Given the description of an element on the screen output the (x, y) to click on. 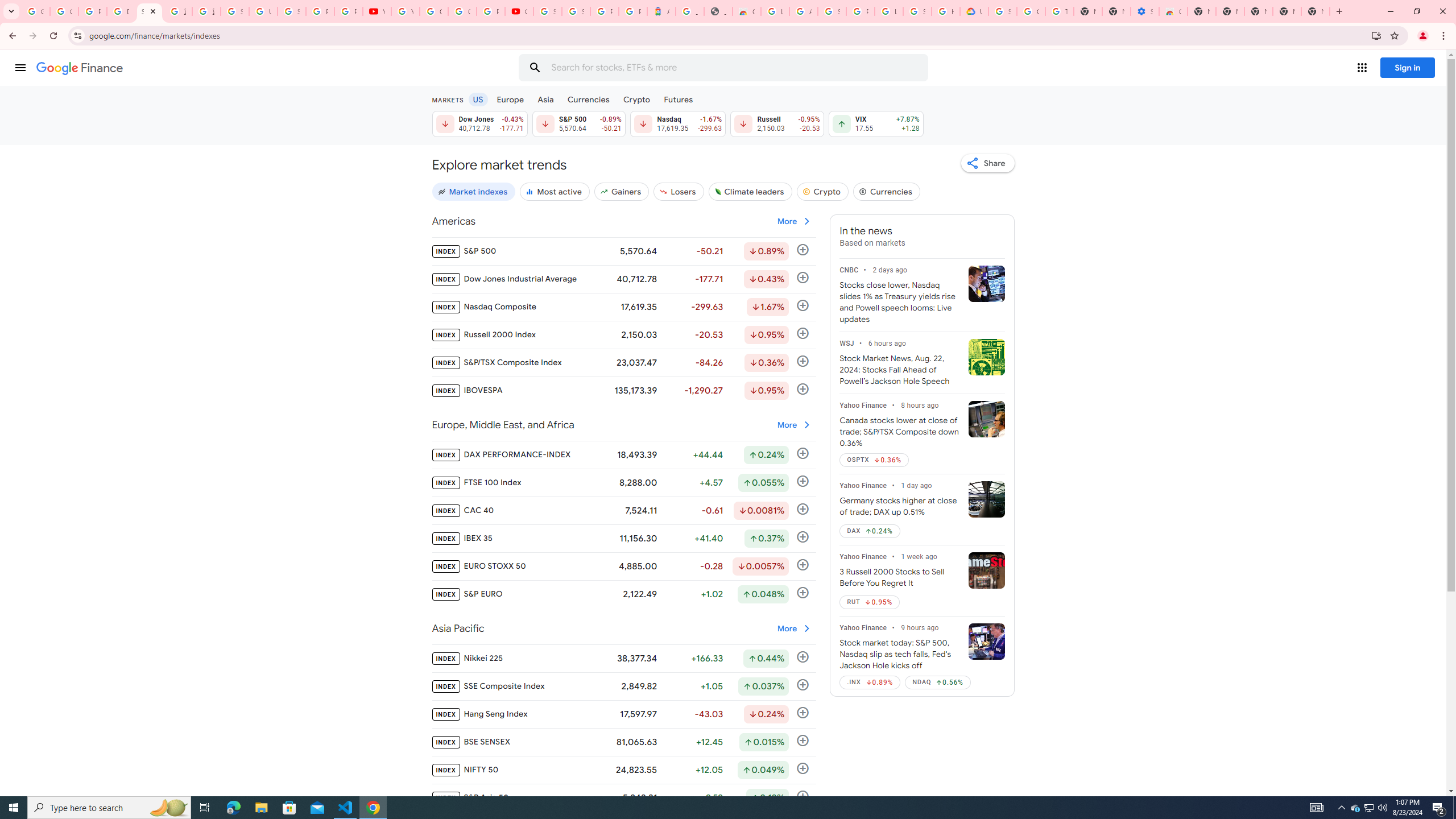
Search (534, 67)
Google Workspace Admin Community (35, 11)
Privacy Checkup (348, 11)
Dow Jones 40,712.78 Down by 0.43% -177.71 (478, 123)
Sign in - Google Accounts (291, 11)
Turn cookies on or off - Computer - Google Account Help (1058, 11)
Losers (678, 191)
Sign in - Google Accounts (234, 11)
More (793, 628)
Currencies (588, 99)
DAX Up by 0.24% (869, 531)
Google Account Help (433, 11)
